Given the description of an element on the screen output the (x, y) to click on. 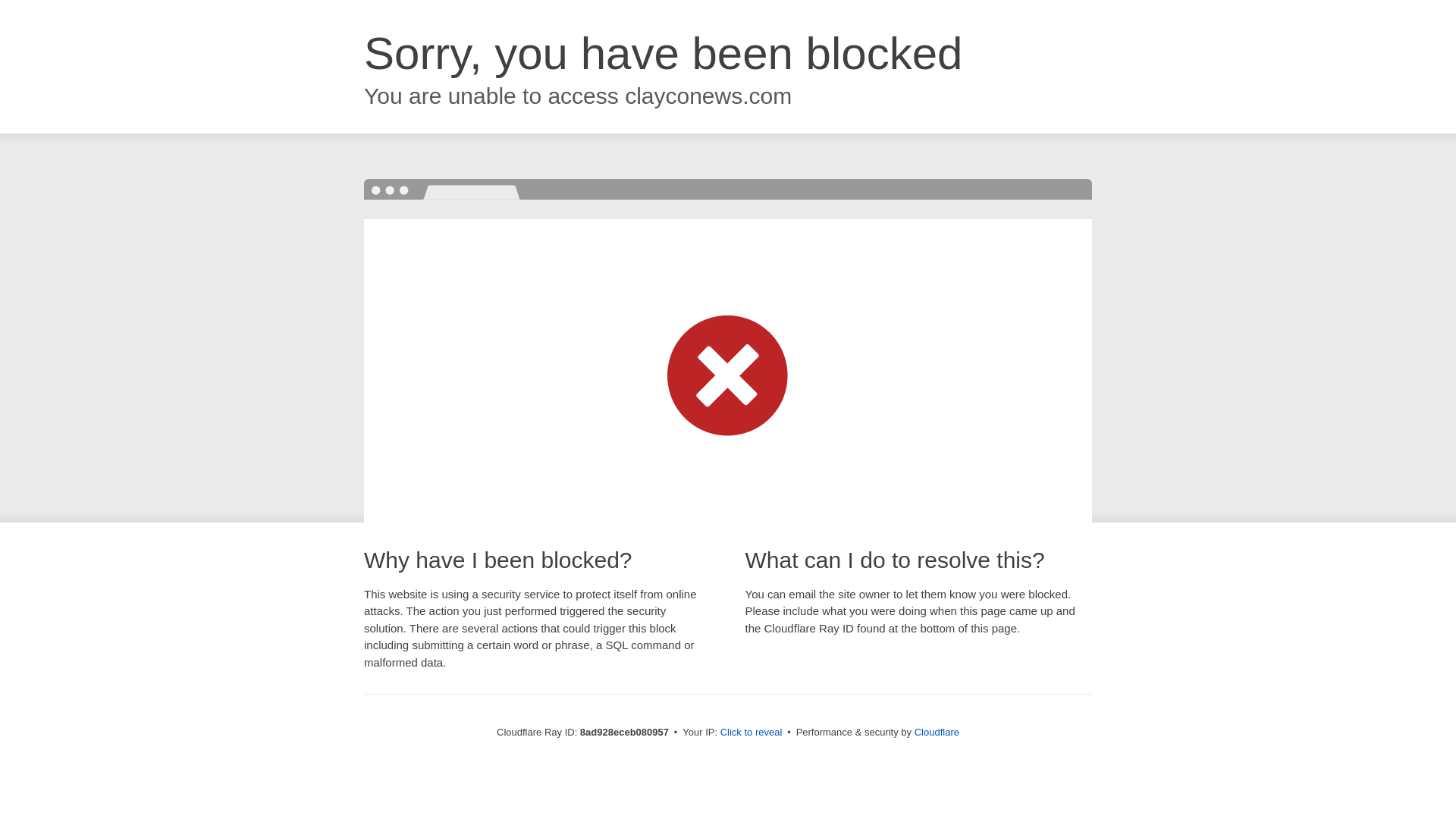
Cloudflare (936, 731)
Click to reveal (751, 732)
